Given the description of an element on the screen output the (x, y) to click on. 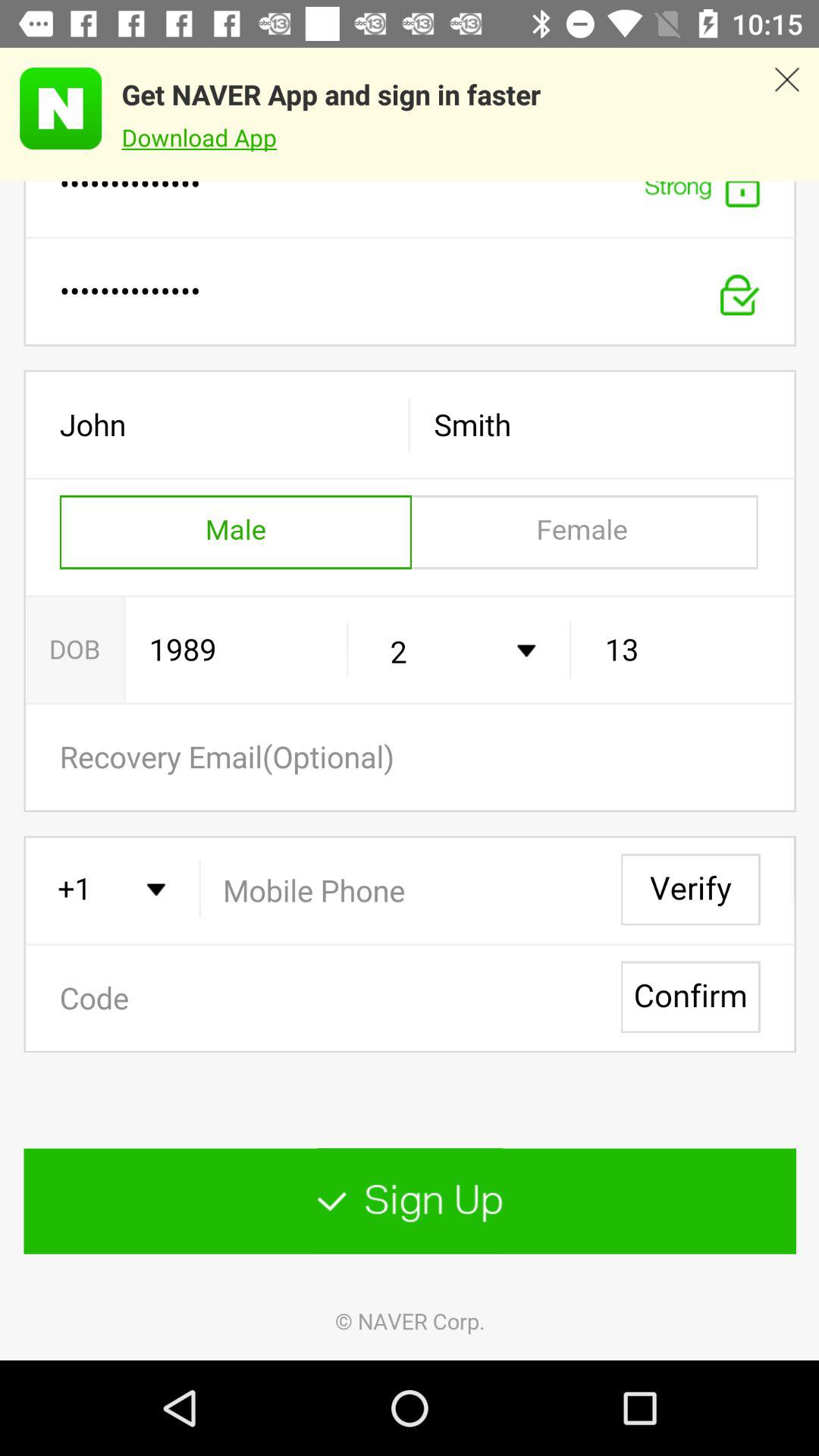
advertisement page (50, 108)
